Given the description of an element on the screen output the (x, y) to click on. 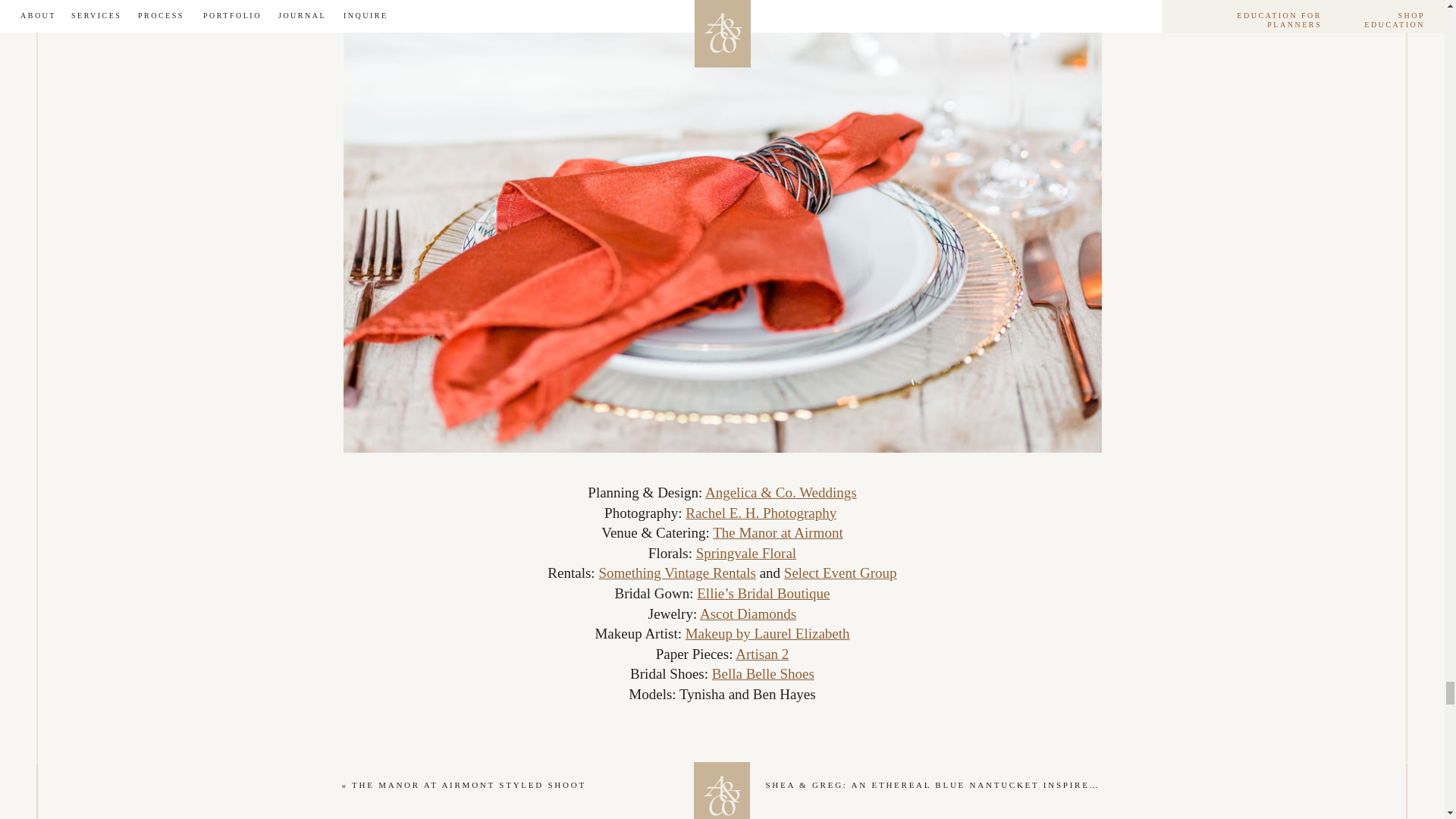
Makeup by Laurel Elizabeth (767, 633)
Something Vintage Rentals (676, 572)
Springvale Floral (745, 553)
Select Event Group (840, 572)
The Manor at Airmont (778, 532)
Ascot Diamonds (748, 613)
Rachel E. H. Photography (760, 512)
Bella Belle Shoes (762, 673)
THE MANOR AT AIRMONT STYLED SHOOT (469, 784)
Artisan 2 (762, 653)
